Given the description of an element on the screen output the (x, y) to click on. 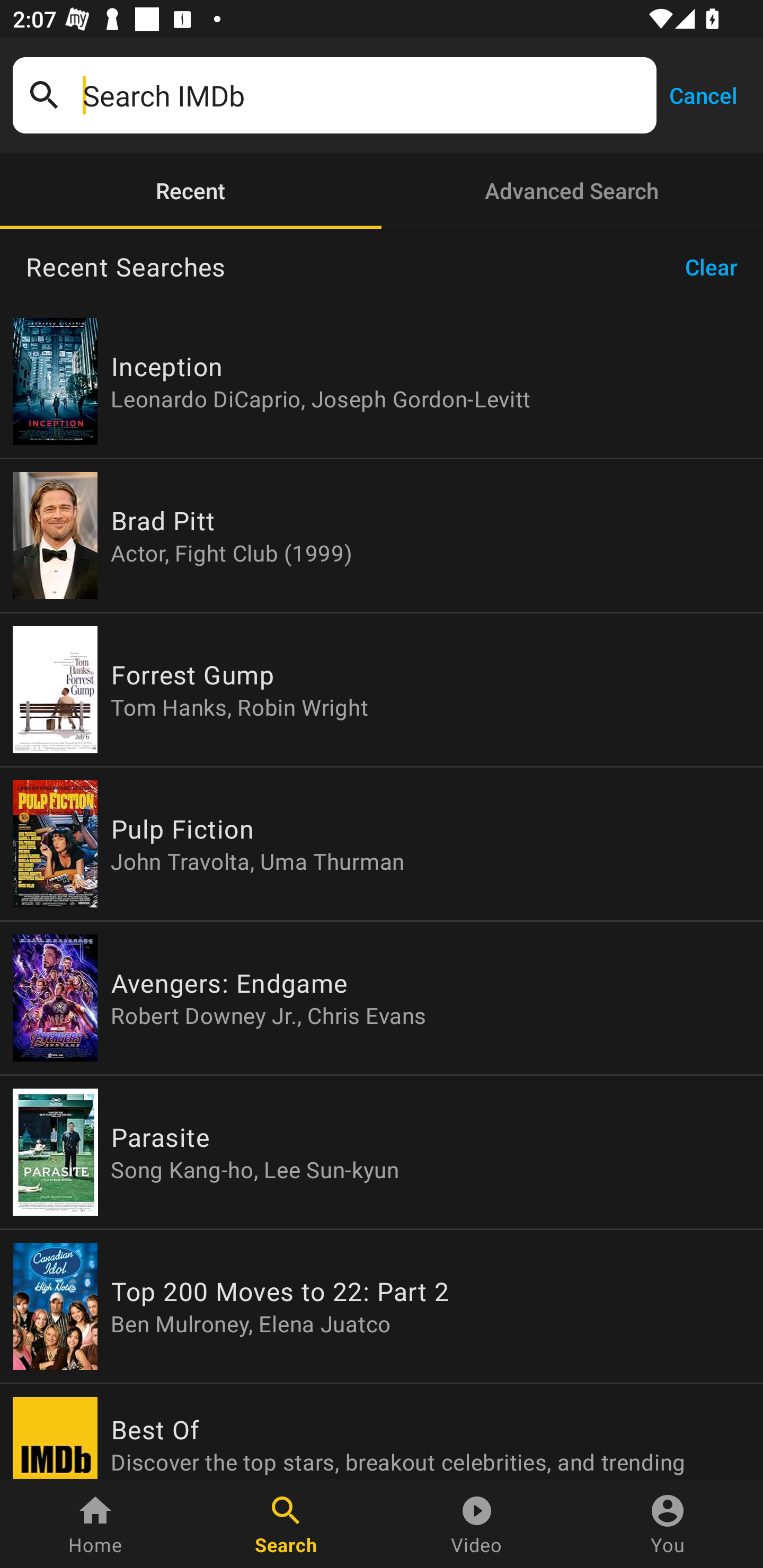
Cancel (703, 94)
Search IMDb (363, 95)
Advanced Search (572, 190)
Clear (717, 266)
Inception Leonardo DiCaprio, Joseph Gordon-Levitt (381, 381)
Brad Pitt Actor, Fight Club (1999) (381, 535)
Forrest Gump Tom Hanks, Robin Wright (381, 689)
Pulp Fiction John Travolta, Uma Thurman (381, 844)
Avengers: Endgame Robert Downey Jr., Chris Evans (381, 997)
Parasite Song Kang-ho, Lee Sun-kyun (381, 1151)
Home (95, 1523)
Video (476, 1523)
You (667, 1523)
